Given the description of an element on the screen output the (x, y) to click on. 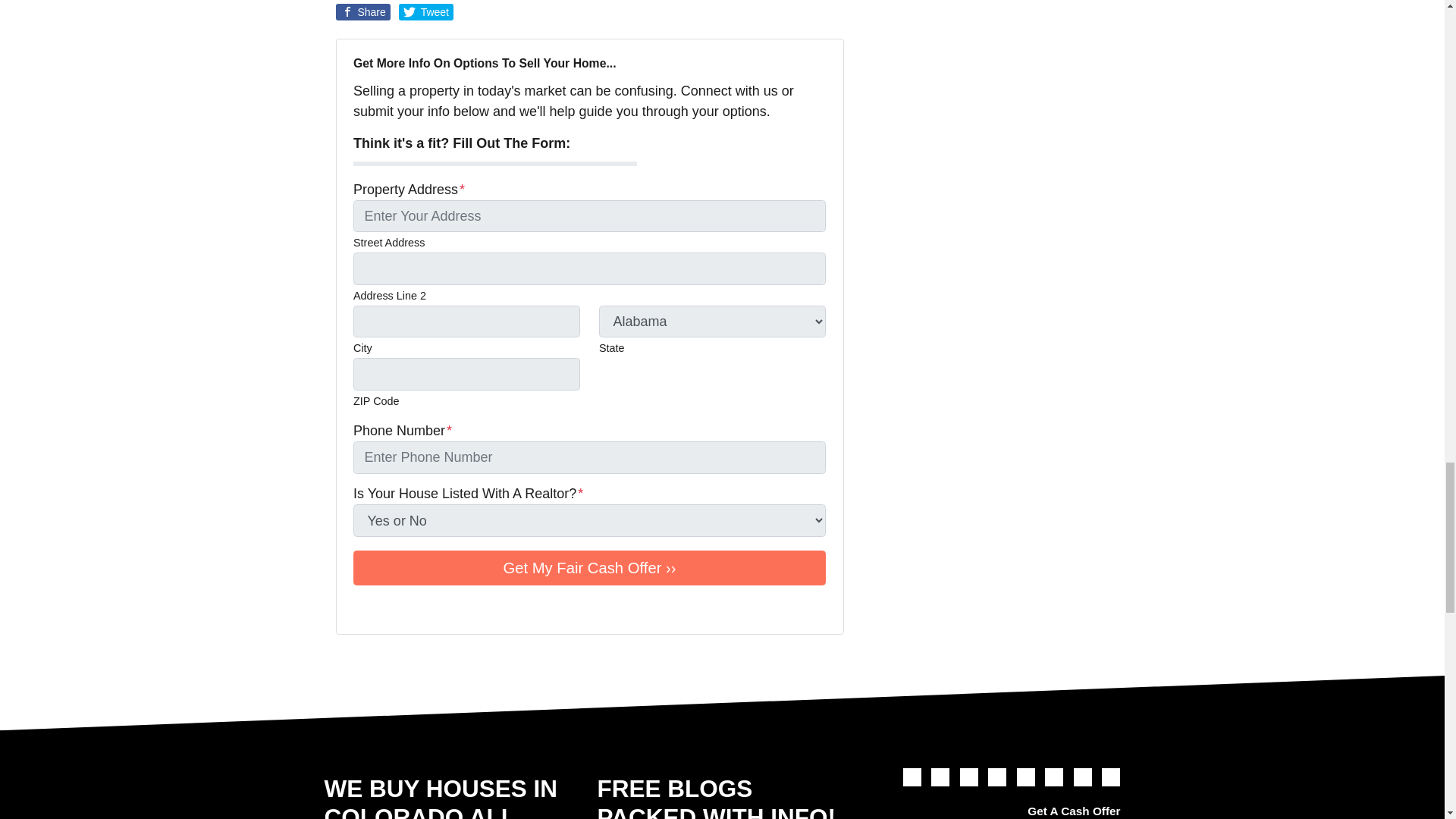
Houzz (510, 607)
Share (362, 12)
LinkedIn (425, 607)
Facebook (940, 777)
YouTube (404, 607)
Share on Facebook (362, 12)
Share on Twitter (425, 12)
Instagram (447, 607)
Twitter (911, 777)
Twitter (362, 607)
